Given the description of an element on the screen output the (x, y) to click on. 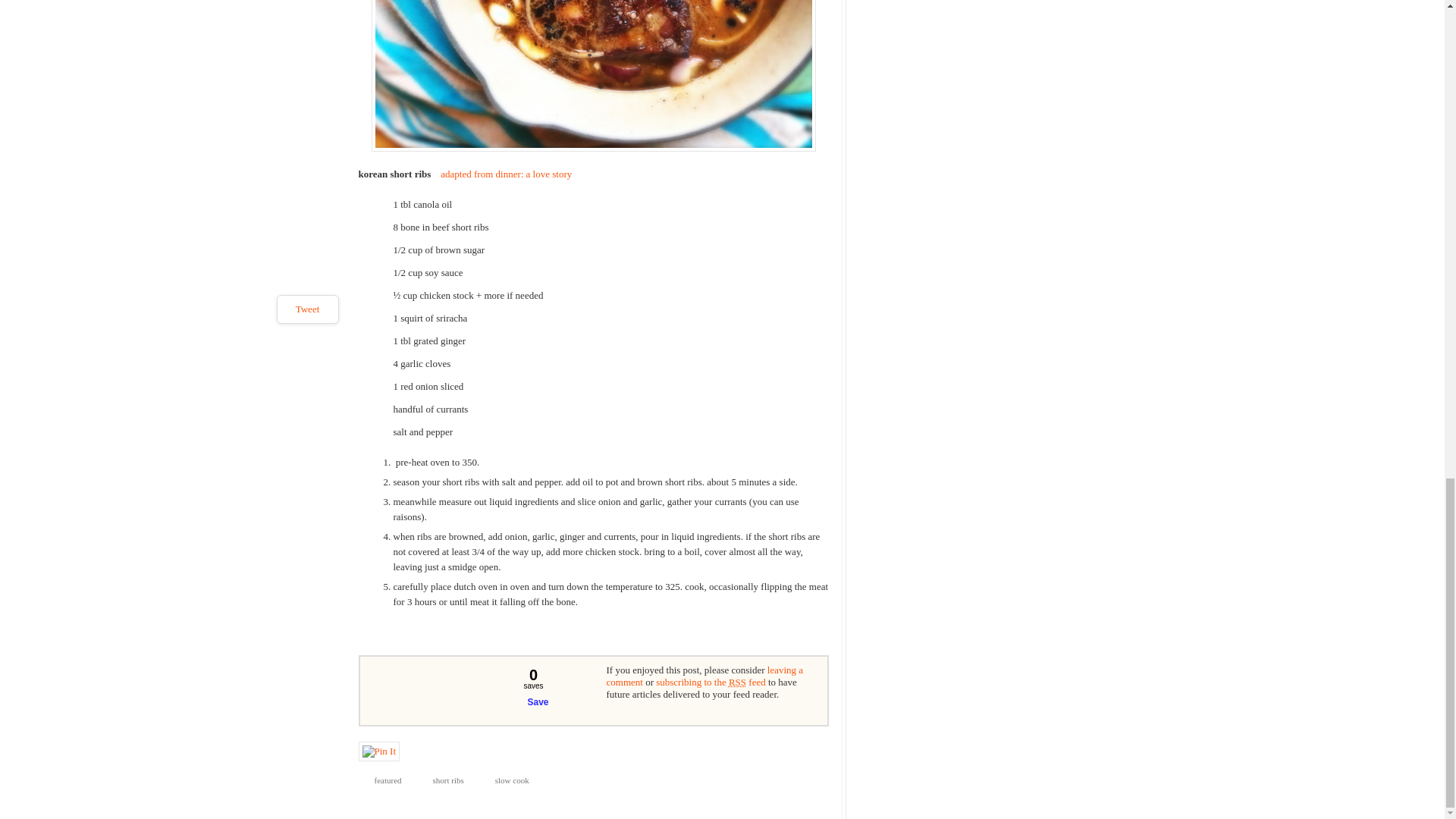
short ribs (443, 780)
Save (530, 701)
Pin It (378, 751)
image (593, 75)
subscribing to the RSS feed (710, 681)
Really Simple Syndication (737, 681)
featured (383, 780)
leaving a comment (705, 675)
adapted from dinner: a love story (506, 173)
Syndicate this site using RSS (710, 681)
slow cook (508, 780)
